Given the description of an element on the screen output the (x, y) to click on. 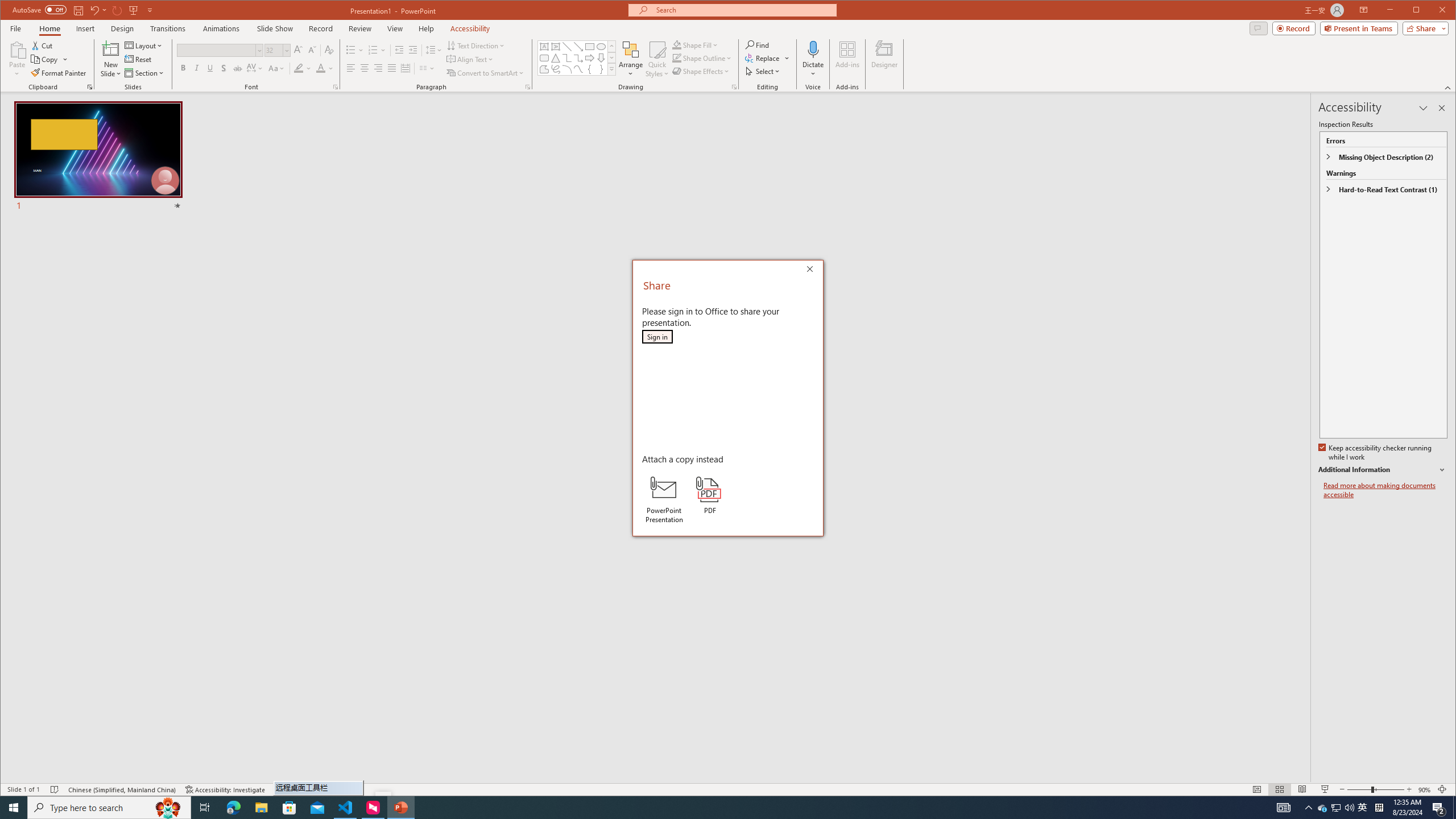
Oval (601, 46)
Decrease Font Size (311, 49)
Read more about making documents accessible (1385, 489)
Line Spacing (433, 49)
